Given the description of an element on the screen output the (x, y) to click on. 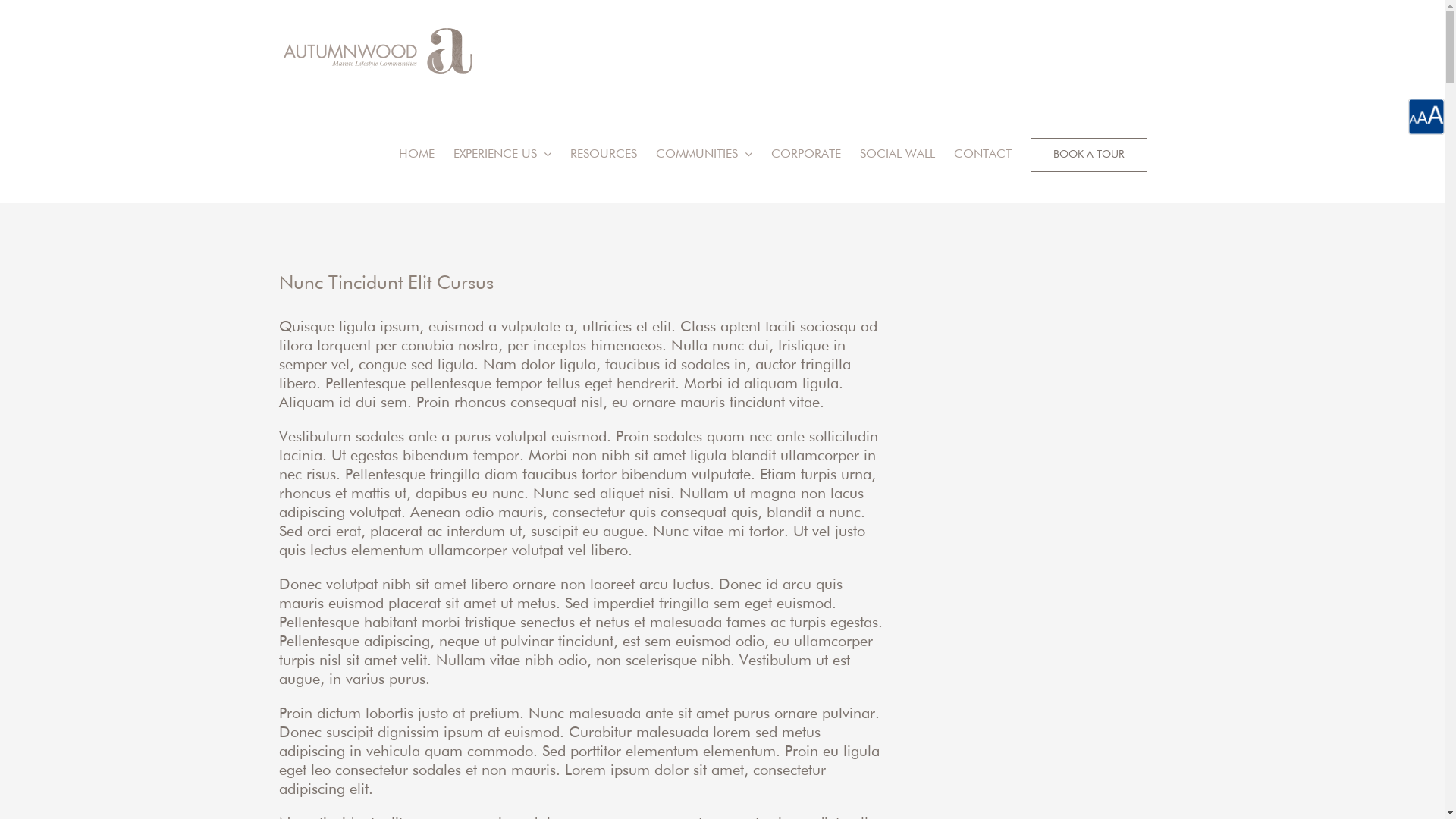
CONTACT Element type: text (982, 152)
Accessibility Helper sidebar Element type: hover (1426, 116)
SOCIAL WALL Element type: text (897, 152)
CORPORATE Element type: text (805, 152)
COMMUNITIES Element type: text (703, 152)
BOOK A TOUR Element type: text (1087, 152)
RESOURCES Element type: text (603, 152)
HOME Element type: text (416, 152)
EXPERIENCE US Element type: text (502, 152)
